Given the description of an element on the screen output the (x, y) to click on. 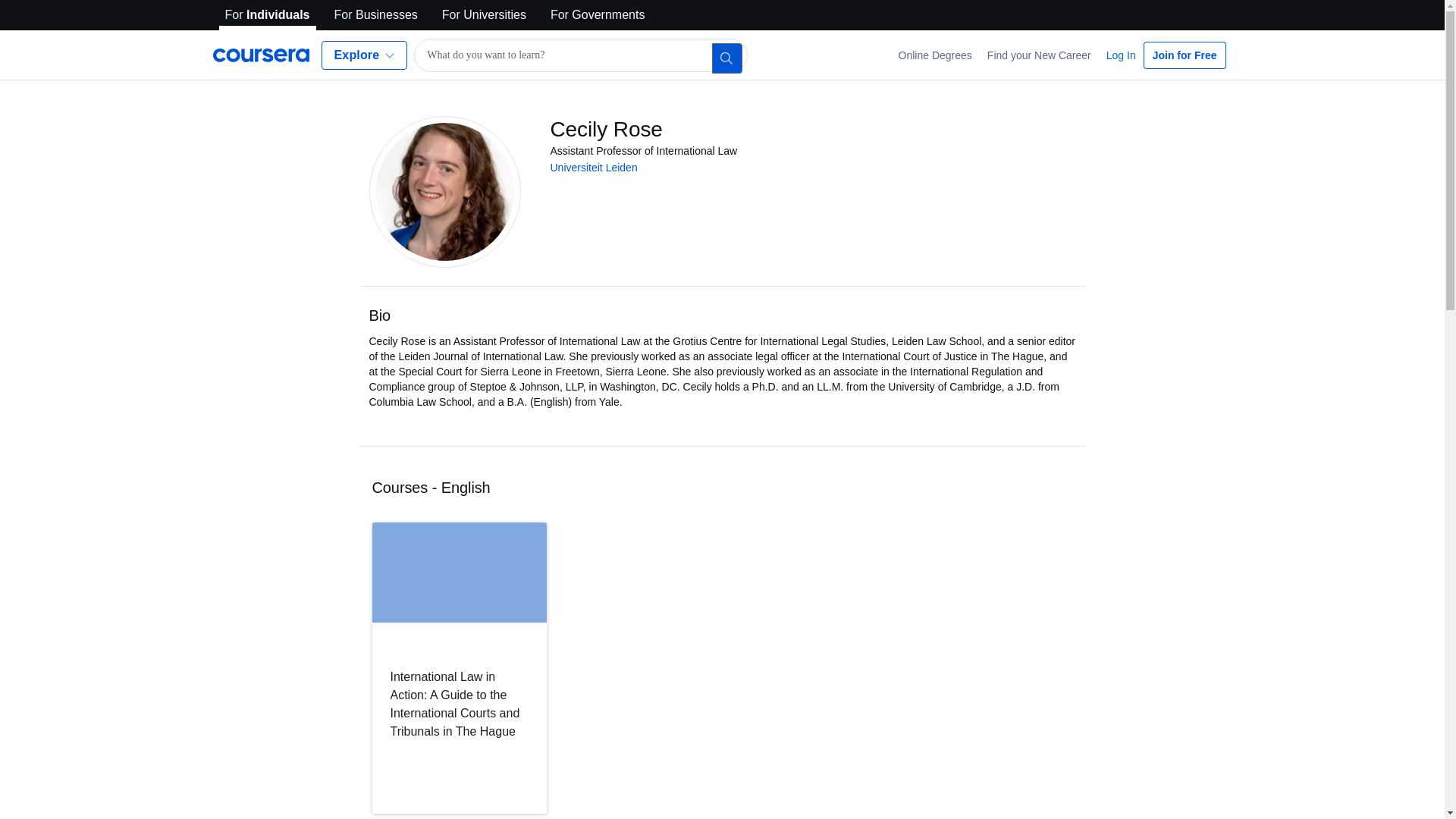
For Individuals (266, 15)
For Businesses (376, 15)
Log In (1120, 54)
Online Degrees (935, 54)
Universiteit Leiden (593, 167)
For Governments (597, 15)
For Universities (483, 15)
Join for Free (1183, 53)
Explore (364, 54)
Find your New Career (1039, 54)
